Given the description of an element on the screen output the (x, y) to click on. 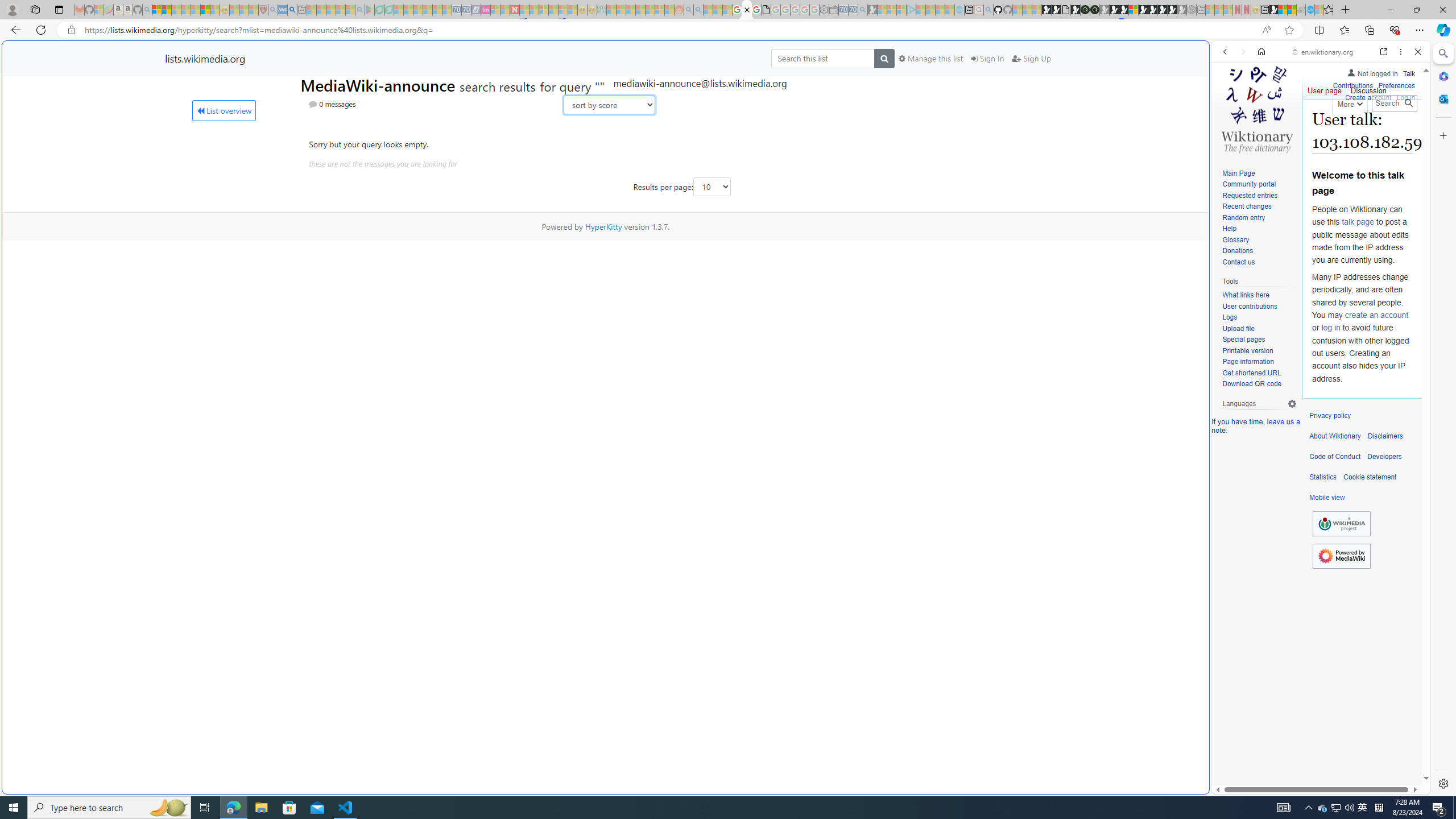
Disclaimers (1385, 436)
Search Wiktionary (1393, 103)
Get shortened URL (1259, 373)
Requested entries (1249, 194)
